Given the description of an element on the screen output the (x, y) to click on. 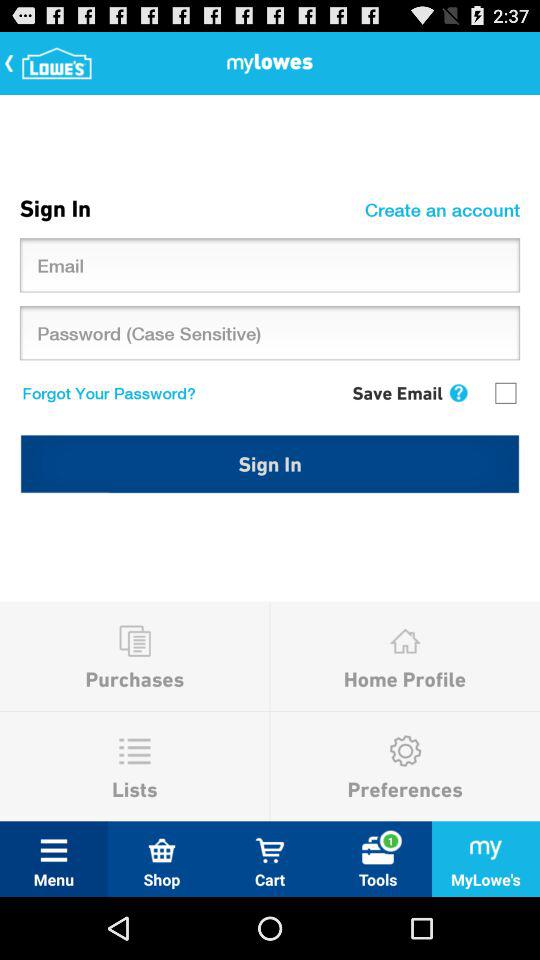
launch create an account (445, 209)
